Given the description of an element on the screen output the (x, y) to click on. 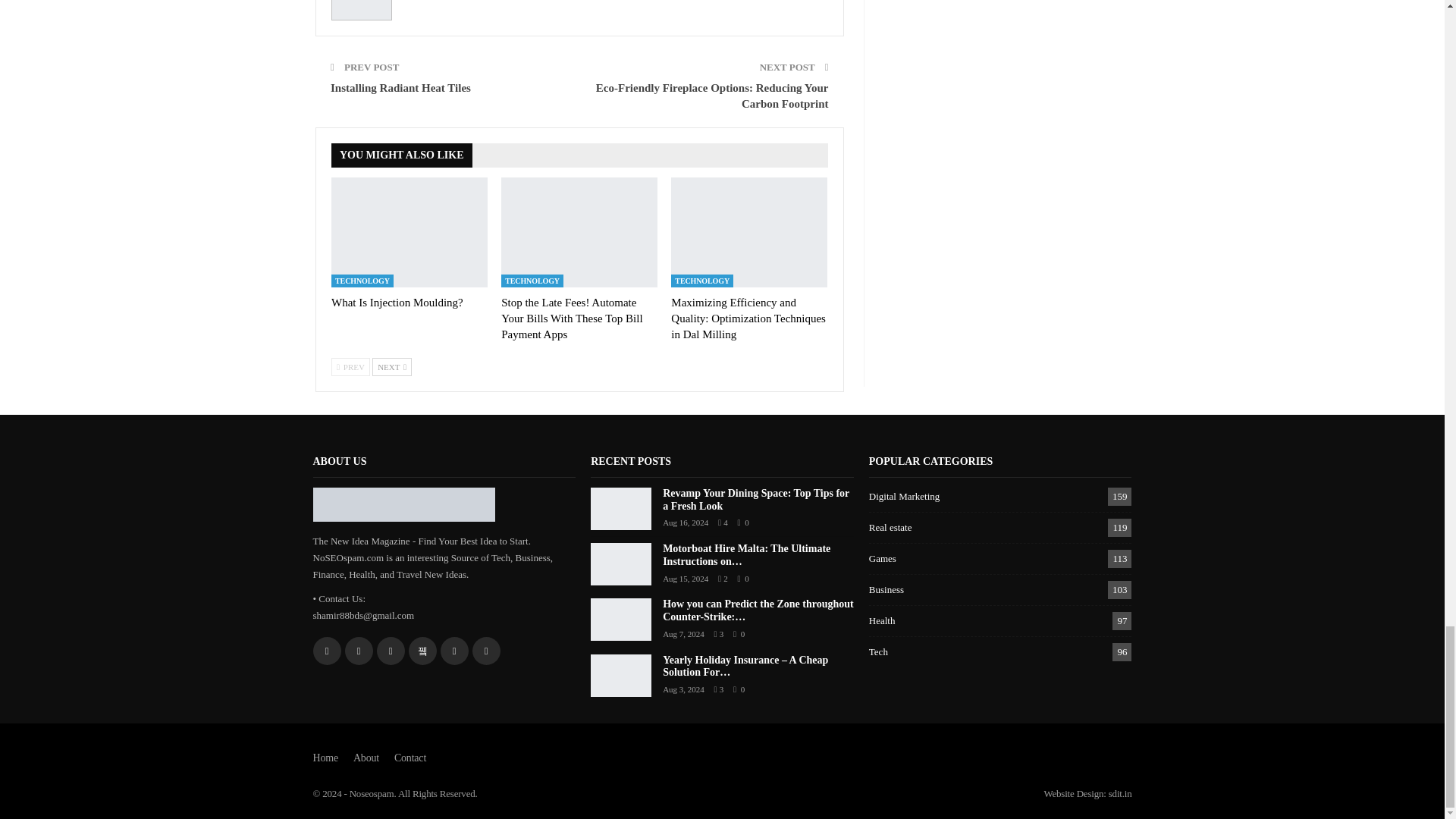
What Is Injection Moulding? (409, 231)
Next (392, 366)
What Is Injection Moulding? (397, 302)
Previous (350, 366)
